Given the description of an element on the screen output the (x, y) to click on. 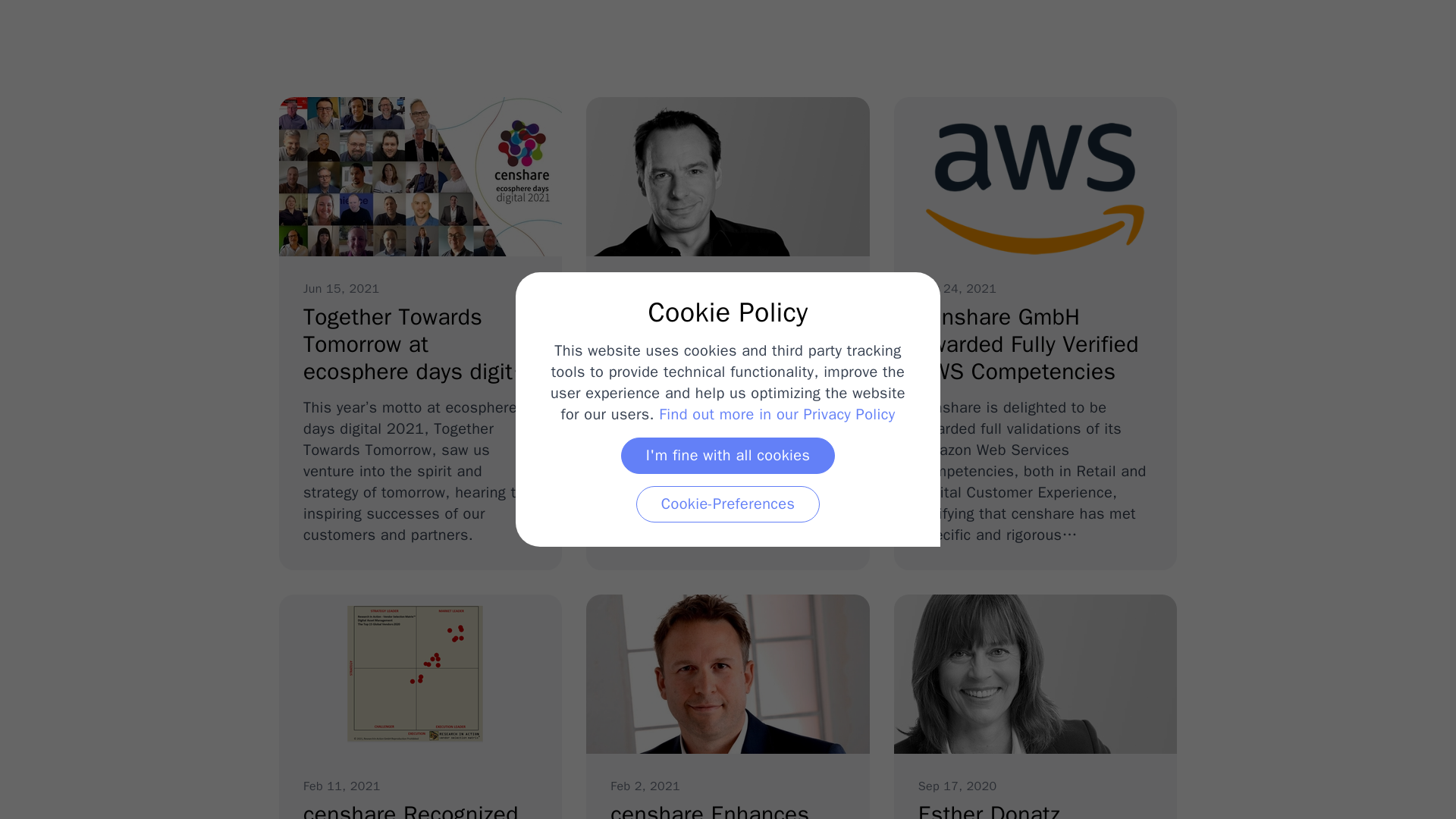
I'm fine with all cookies (728, 455)
Find out more in our Privacy Policy (1034, 706)
Cookie-Preferences (777, 414)
